Given the description of an element on the screen output the (x, y) to click on. 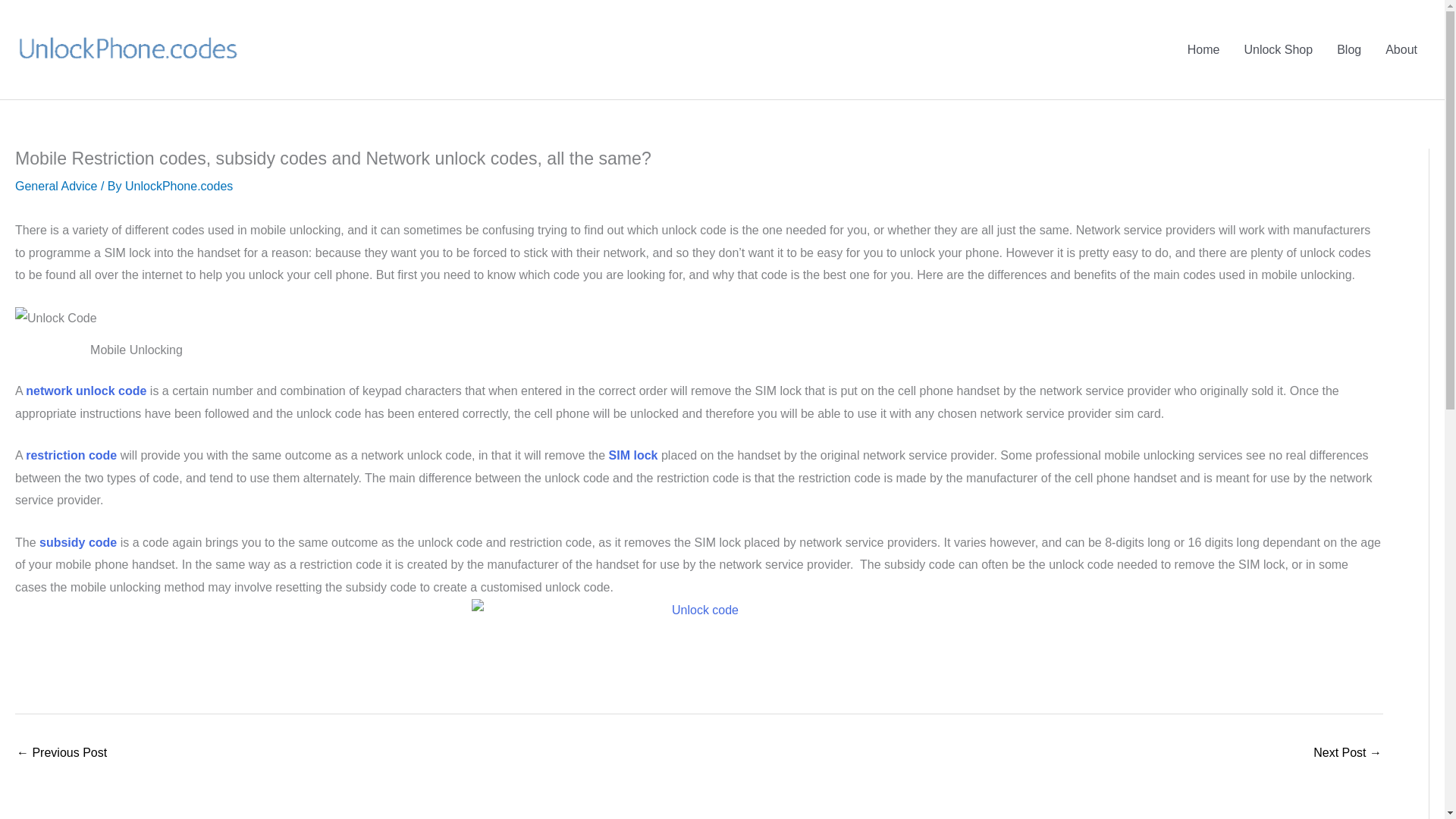
View all posts by UnlockPhone.codes (178, 185)
UnlockPhone.codes (178, 185)
network unlock code (86, 390)
Network Unlock Code (86, 390)
Mobile Phone Unlocking: all you need to know (1347, 754)
Subsidy Code (77, 542)
Cell Phone Unlocking: Why and when to do it (61, 754)
General Advice (55, 185)
subsidy code (77, 542)
SIM lock (633, 454)
